Given the description of an element on the screen output the (x, y) to click on. 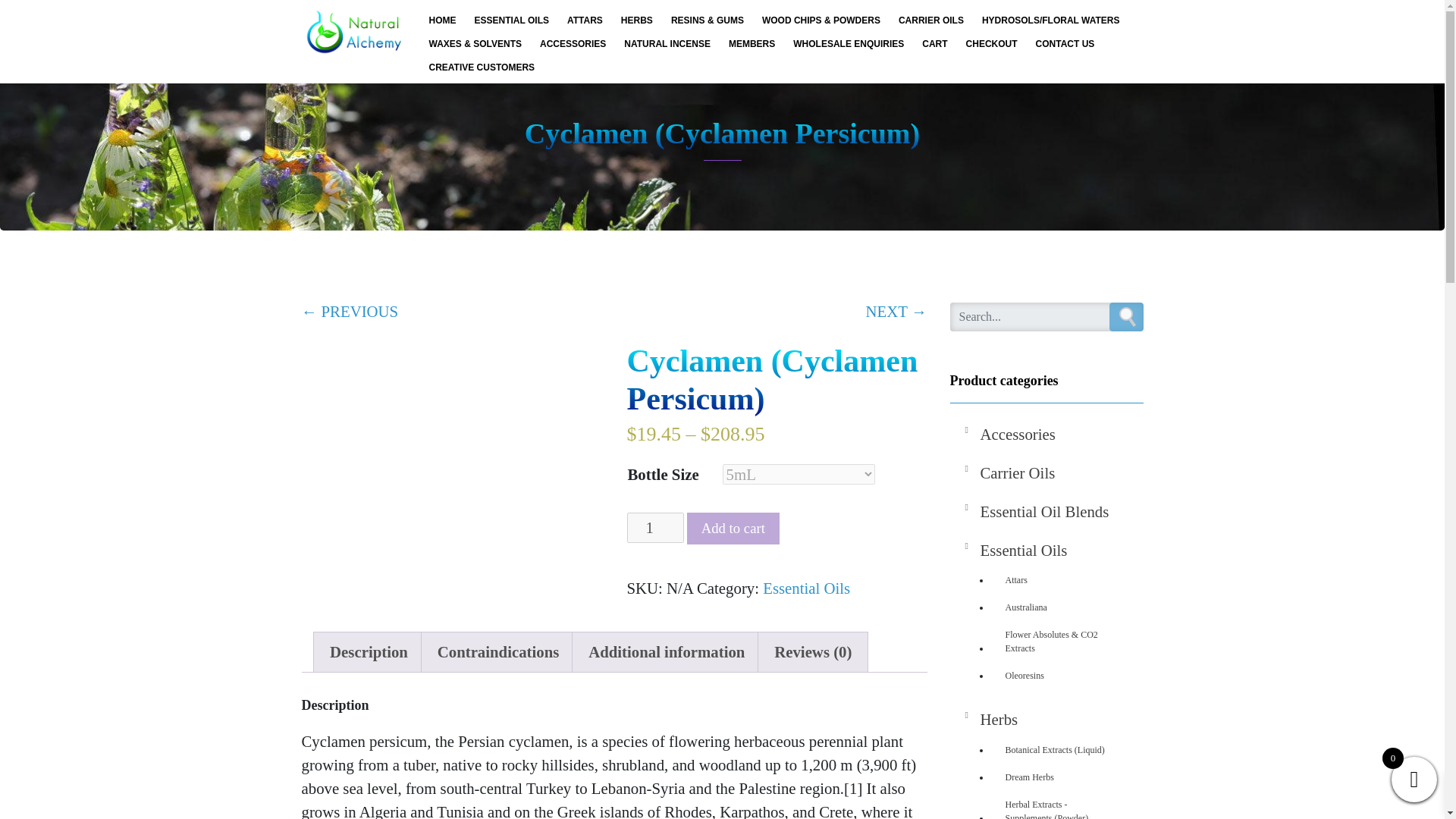
Essential Oils (806, 588)
CONTACT US (1064, 43)
ATTARS (584, 20)
NATURAL INCENSE (666, 43)
WHOLESALE ENQUIRIES (848, 43)
HOME (442, 20)
CHECKOUT (991, 43)
Search for: (1045, 316)
MEMBERS (751, 43)
ESSENTIAL OILS (511, 20)
